Given the description of an element on the screen output the (x, y) to click on. 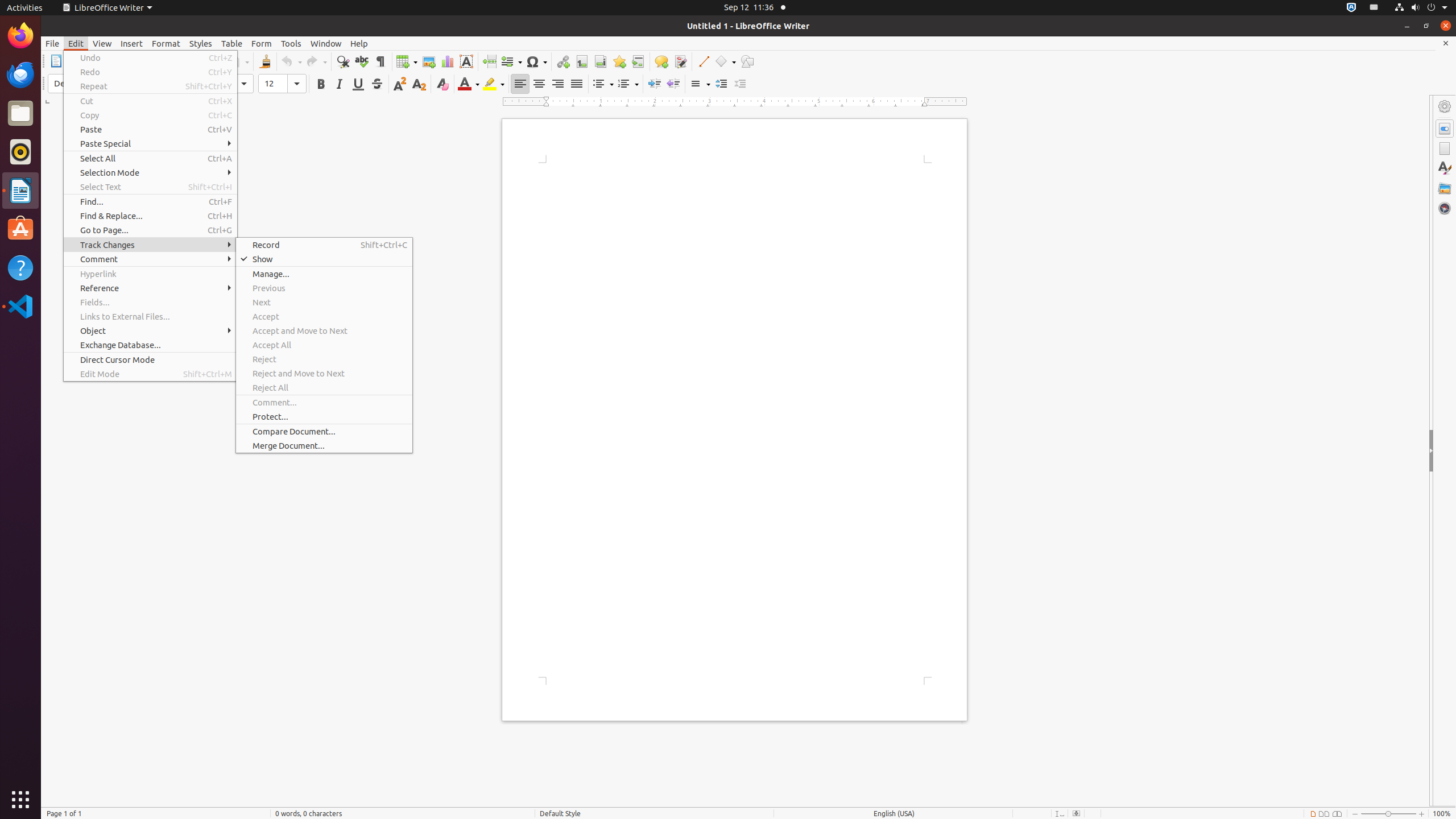
Draw Functions Element type: push-button (746, 61)
Previous Element type: menu-item (324, 287)
Cross-reference Element type: push-button (637, 61)
Bold Element type: toggle-button (320, 83)
Merge Document... Element type: menu-item (324, 445)
